Given the description of an element on the screen output the (x, y) to click on. 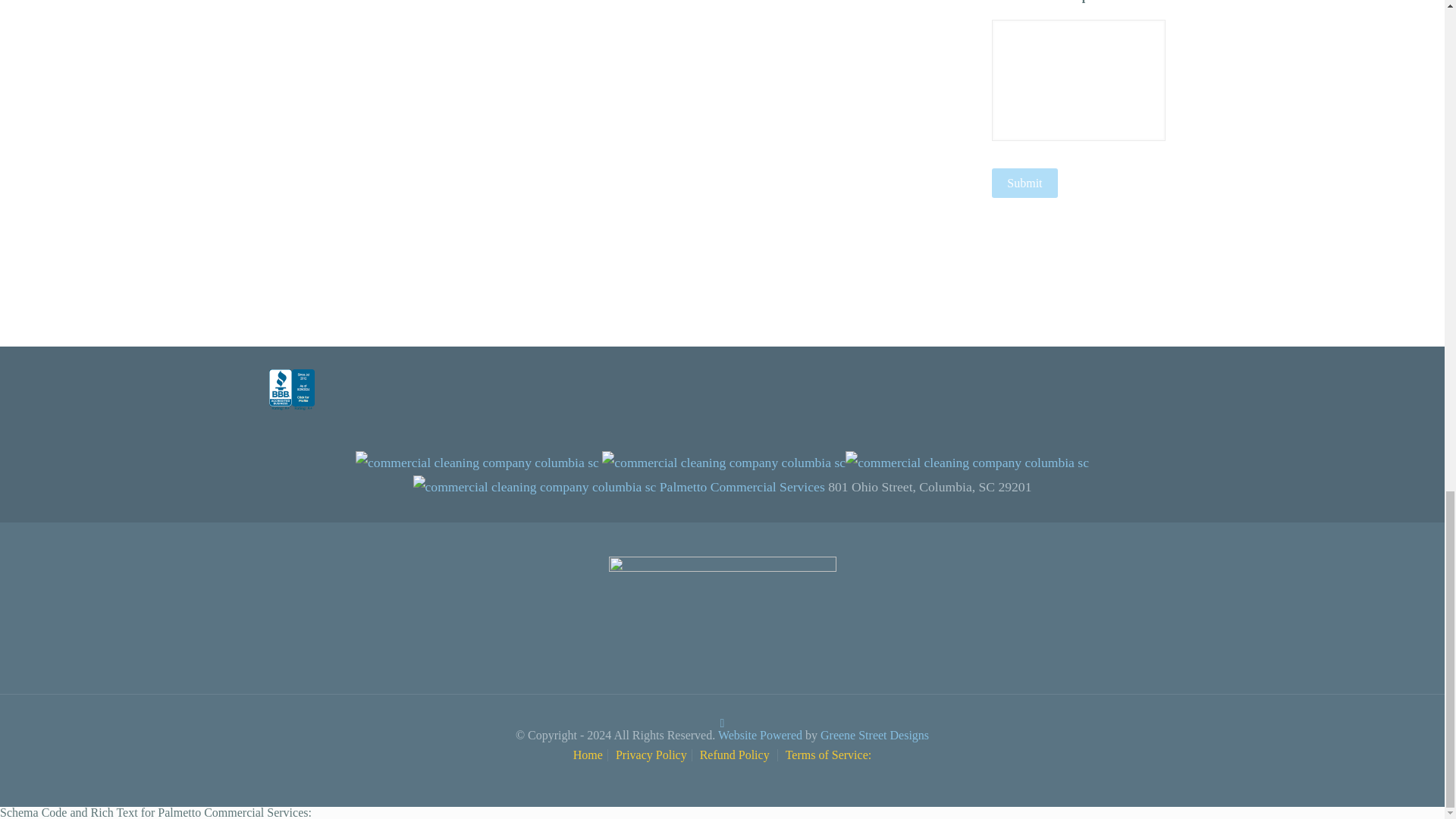
Website Powered (761, 735)
Submit (1024, 183)
Greene Street Designs (874, 735)
Submit (1024, 183)
Terms of Service: (829, 754)
Home (587, 754)
Refund Policy  (736, 754)
Bin Store (761, 735)
seo company (874, 735)
Privacy Policy (651, 754)
